Given the description of an element on the screen output the (x, y) to click on. 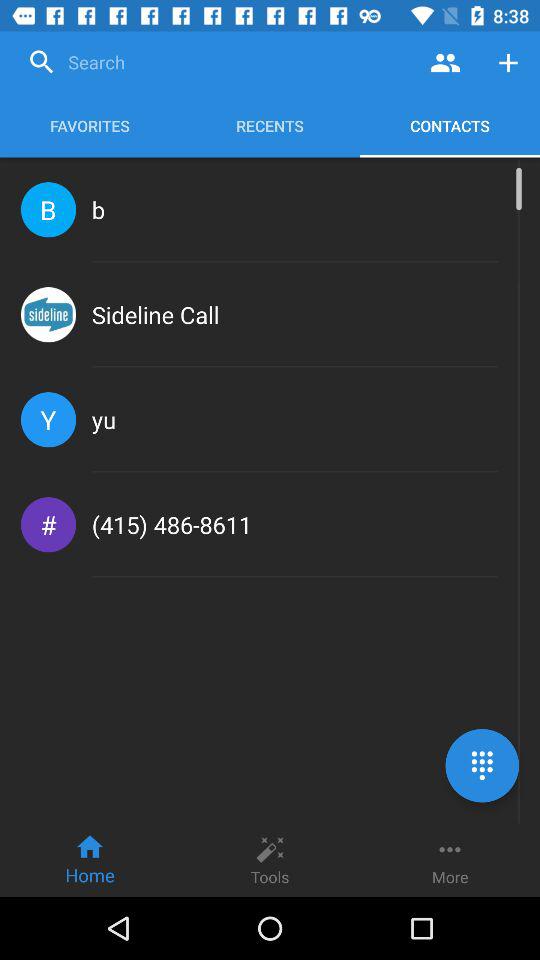
press the item to the left of (415) 486-8611 item (48, 524)
